Given the description of an element on the screen output the (x, y) to click on. 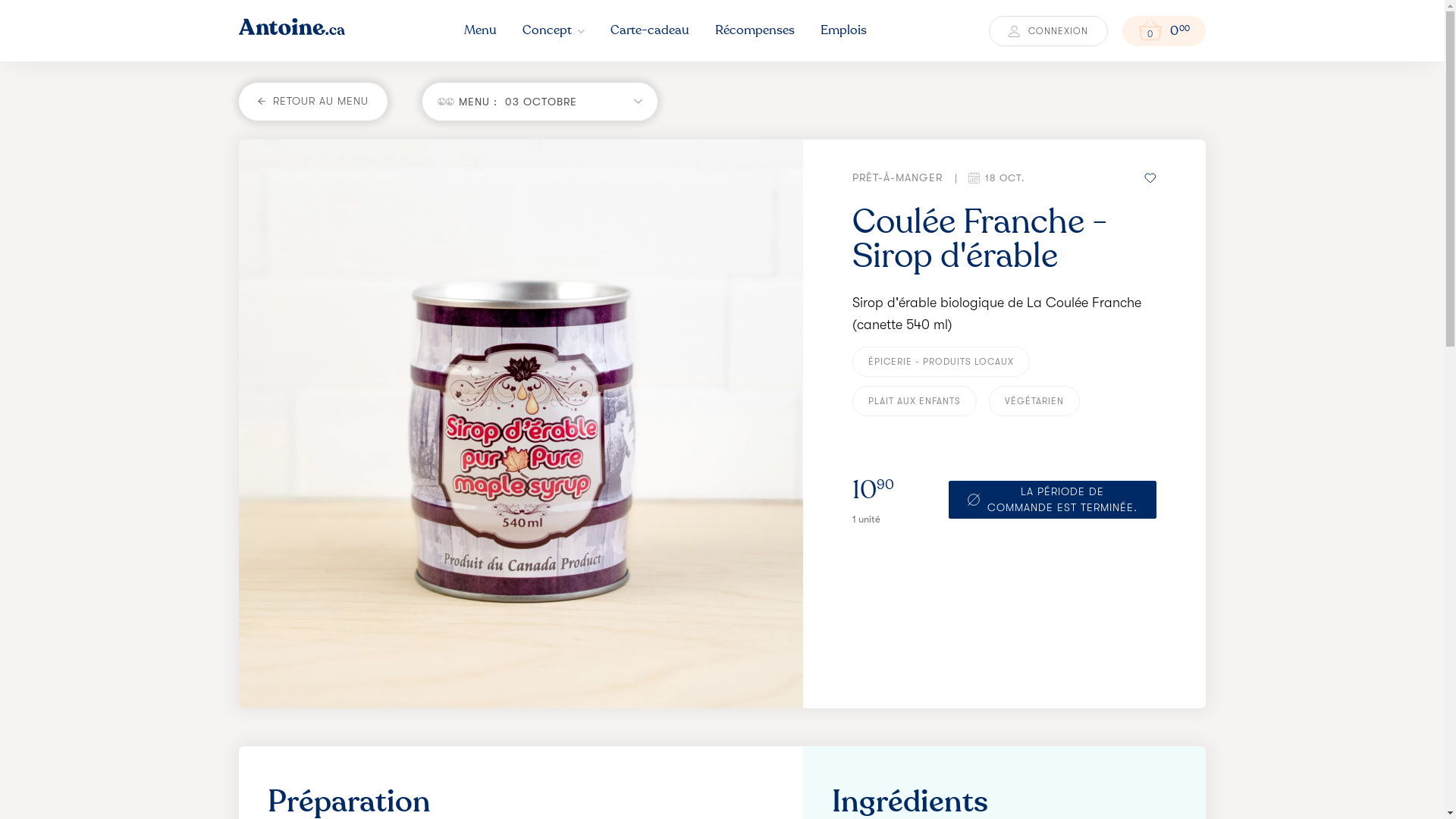
PRODUCTEURS Element type: text (438, 626)
Contact Element type: text (261, 654)
Emplois Element type: text (843, 31)
Menu Element type: text (480, 31)
RETOUR AU MENU Element type: text (312, 101)
Menu Element type: text (254, 567)
Carte-cadeau Element type: text (649, 31)
ZONE DE LIVRAISON Element type: text (451, 661)
Accueil Element type: text (259, 596)
Antoine au quotidien Element type: text (628, 653)
0
0
00 Element type: text (1163, 30)
ENVIRONNEMENT Element type: text (444, 609)
Concept Element type: text (553, 31)
Emplois Element type: text (591, 567)
Mon compte Element type: text (605, 625)
FONCTIONNEMENT Element type: text (448, 591)
CONNEXION Element type: text (1047, 30)
